Given the description of an element on the screen output the (x, y) to click on. 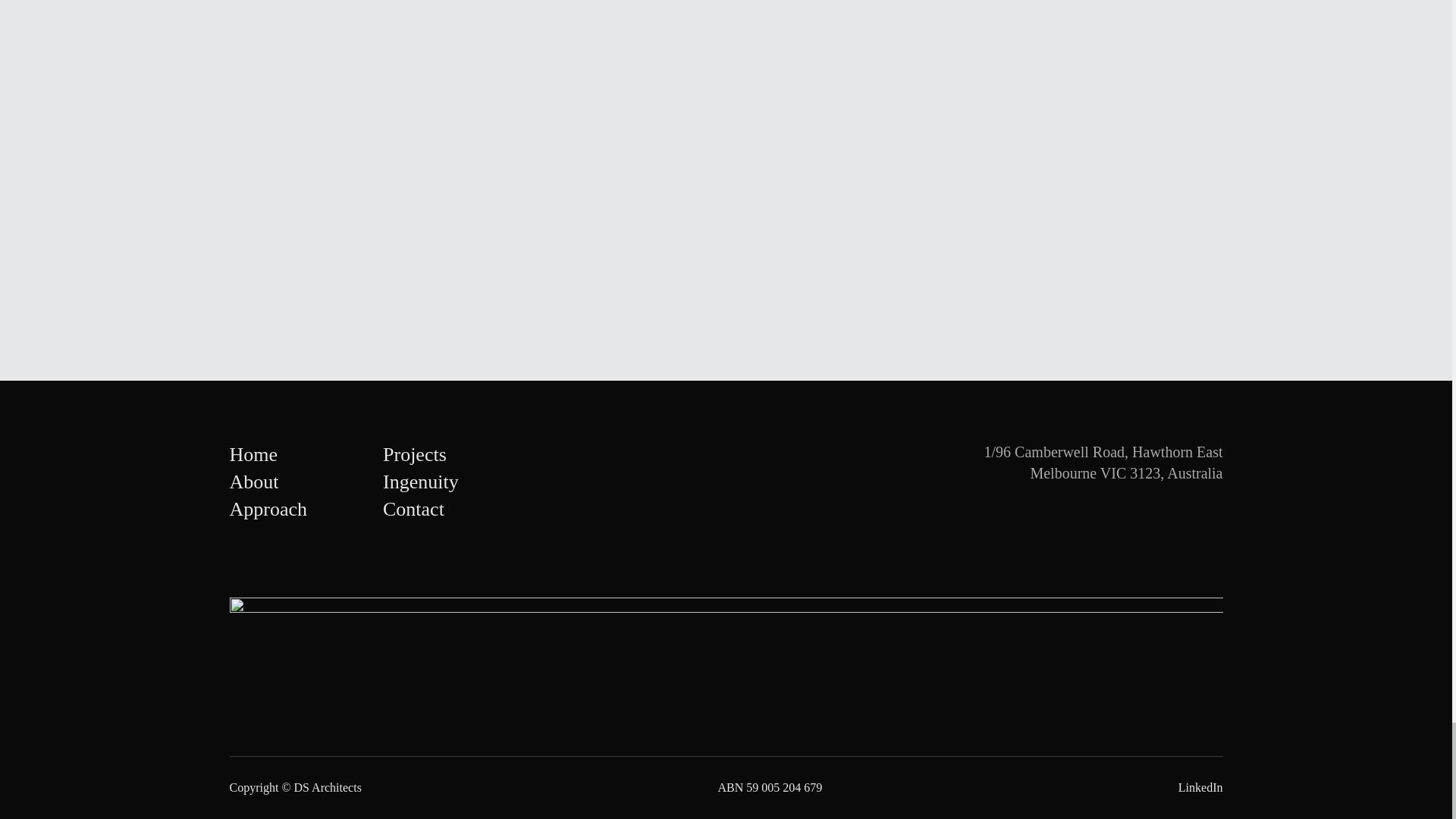
Contact (413, 508)
About (253, 481)
Projects (414, 454)
Ingenuity (420, 481)
Approach (267, 508)
LinkedIn (1200, 787)
Home (253, 454)
